Given the description of an element on the screen output the (x, y) to click on. 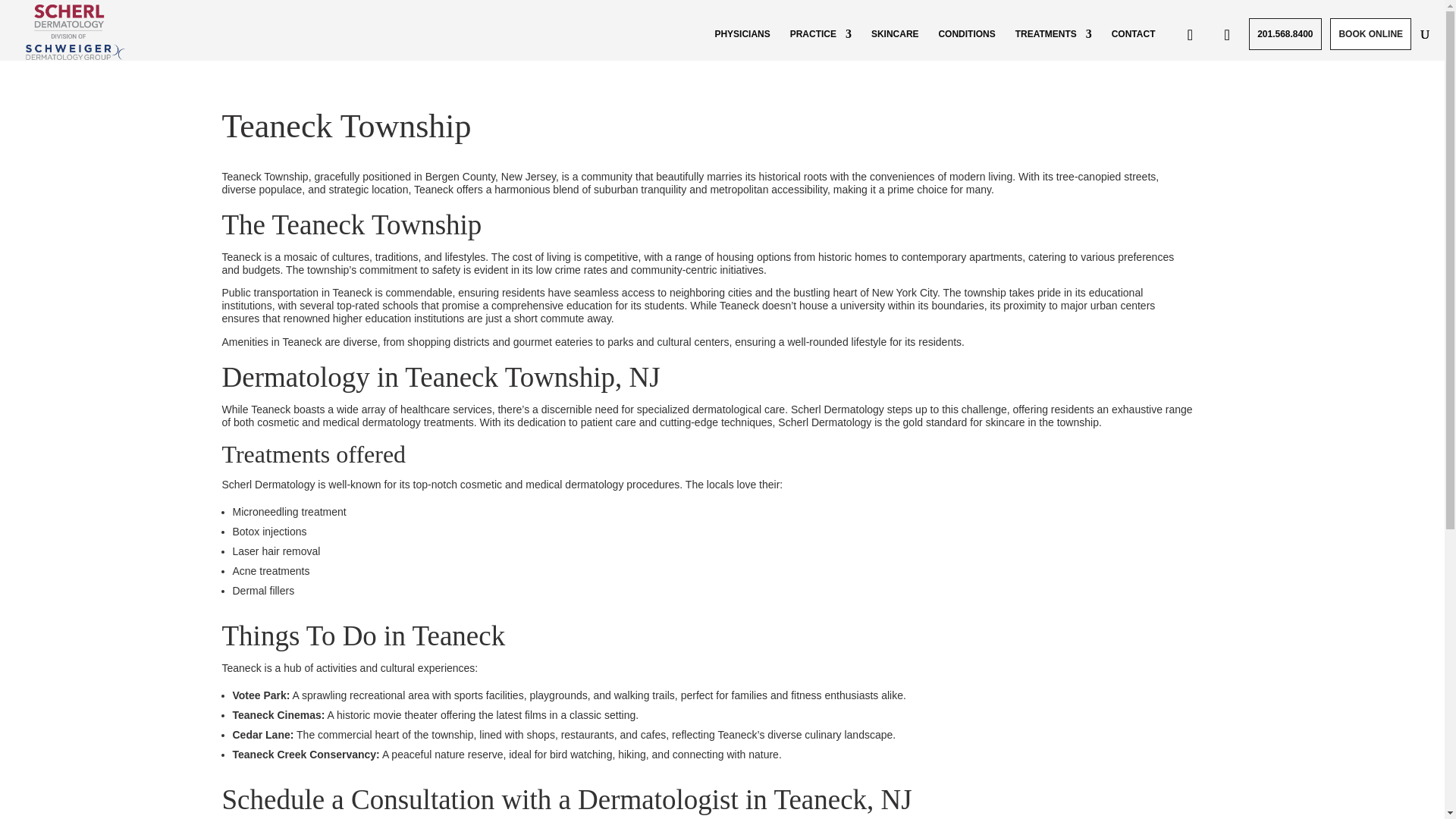
Microneedling treatment (288, 511)
Acne treatments (269, 571)
CONDITIONS (965, 33)
Botox injections (268, 531)
dermatology treatments (418, 422)
PHYSICIANS (742, 33)
Laser hair removal (275, 551)
BOOK ONLINE (1370, 33)
Dermal fillers (262, 590)
